Given the description of an element on the screen output the (x, y) to click on. 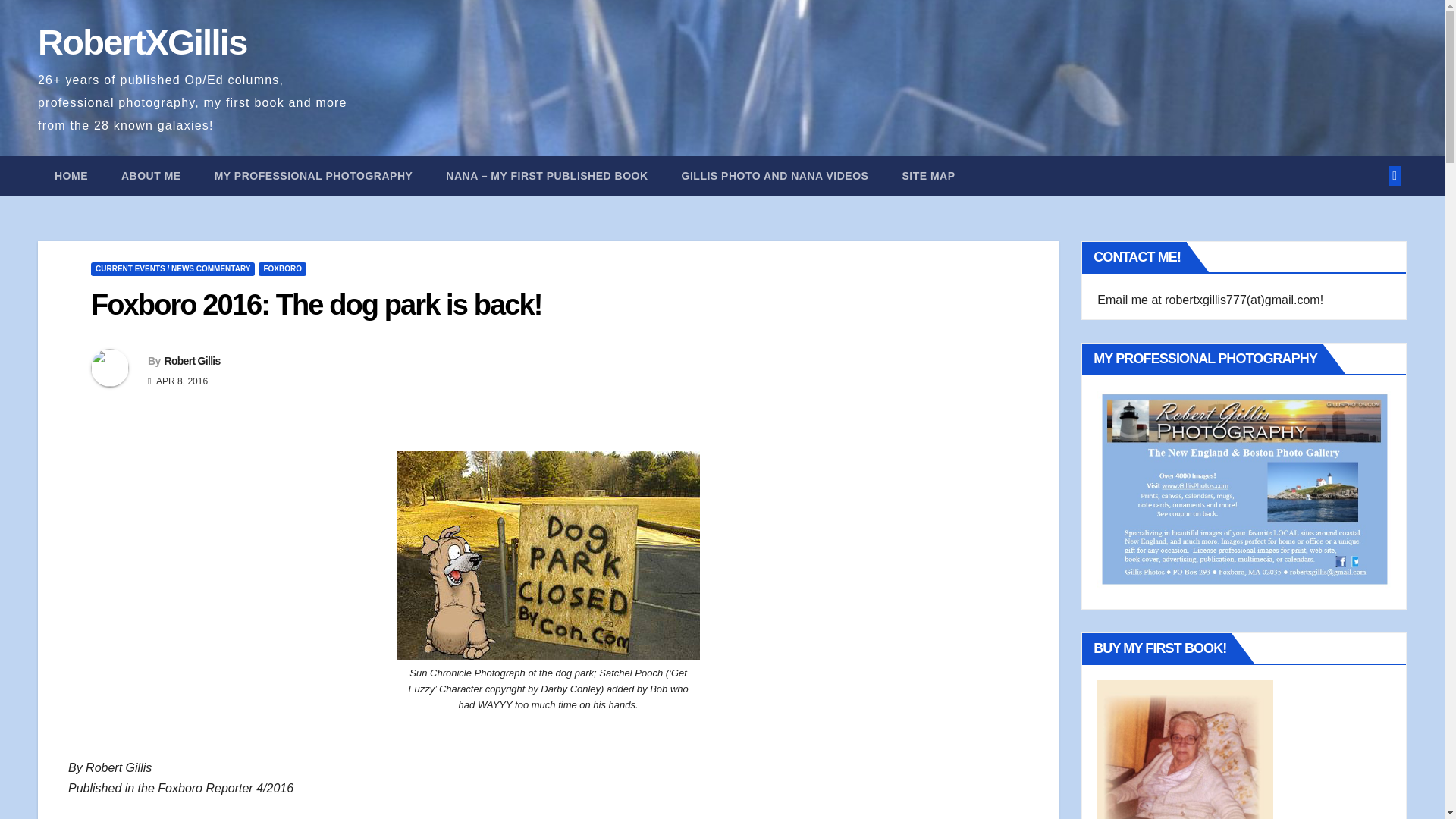
HOME (70, 175)
FOXBORO (282, 269)
Permalink to: Foxboro 2016: The dog park is back! (315, 305)
Home (70, 175)
GILLIS PHOTO AND NANA VIDEOS (775, 175)
RobertXGillis (142, 42)
Robert Gillis (191, 360)
Foxboro 2016: The dog park is back! (315, 305)
ABOUT ME (151, 175)
MY PROFESSIONAL PHOTOGRAPHY (313, 175)
